Given the description of an element on the screen output the (x, y) to click on. 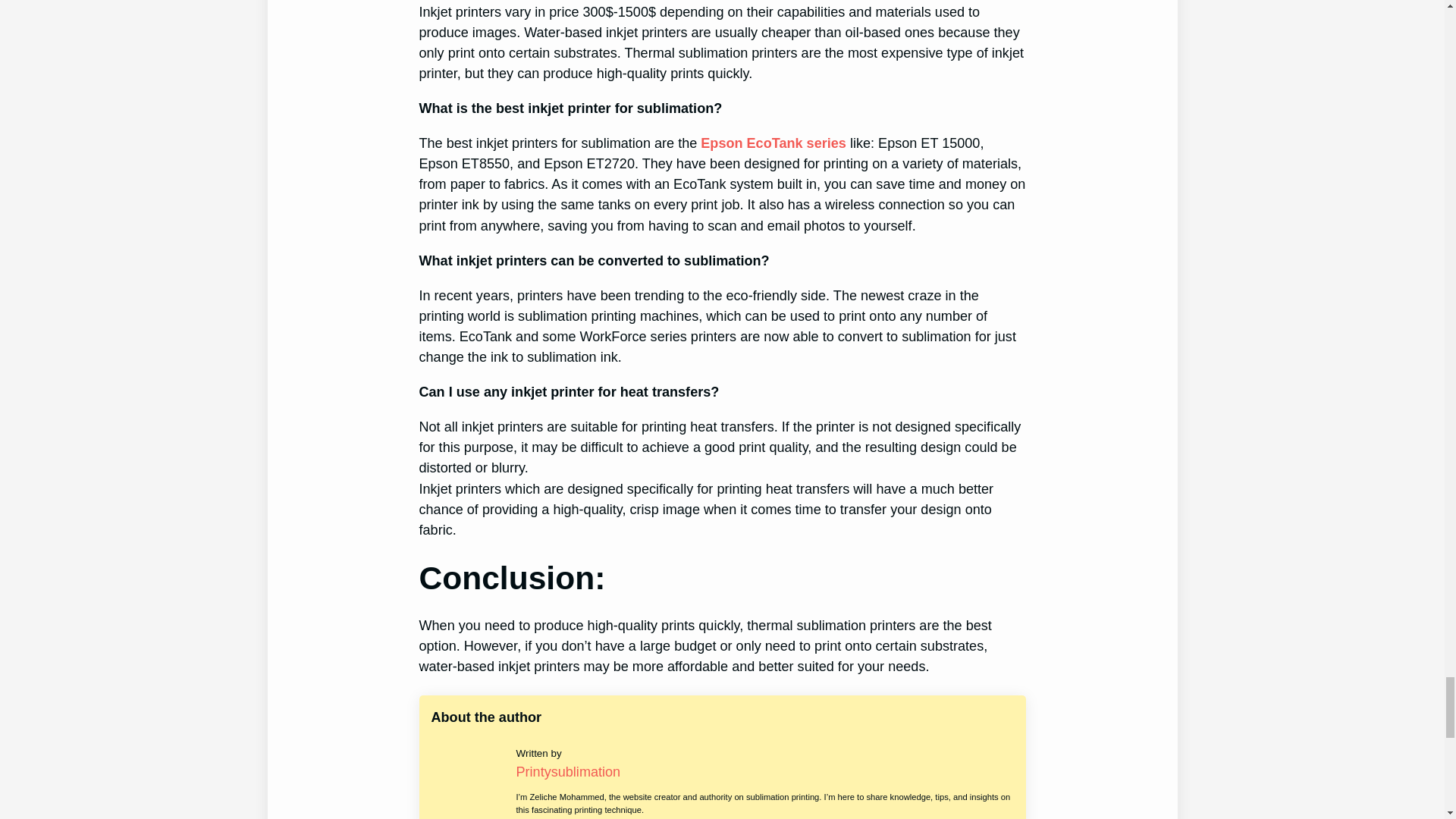
Printysublimation (567, 771)
Epson EcoTank series (772, 142)
